Given the description of an element on the screen output the (x, y) to click on. 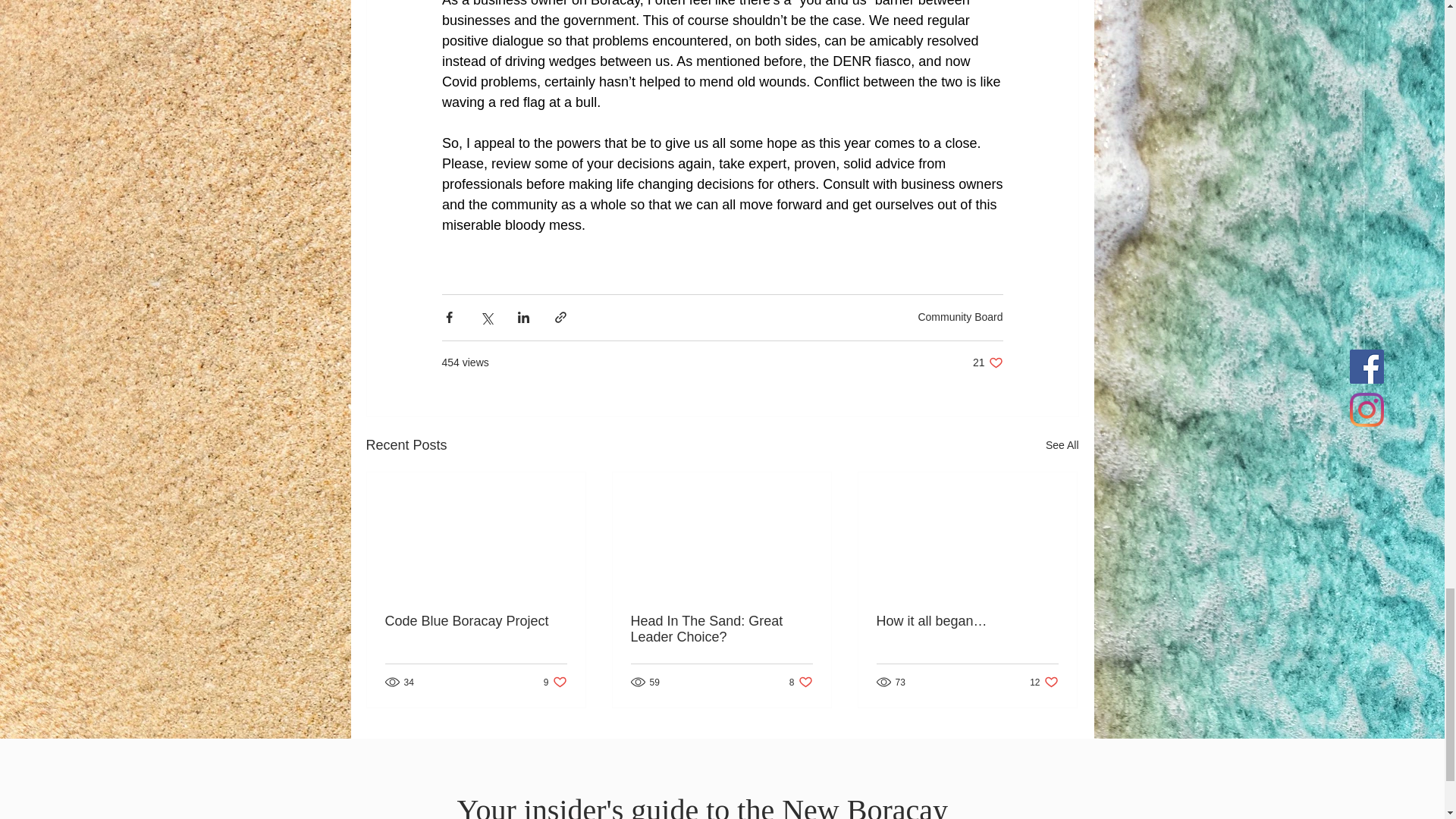
Code Blue Boracay Project (476, 620)
See All (800, 681)
Community Board (1043, 681)
Head In The Sand: Great Leader Choice? (1061, 444)
